Given the description of an element on the screen output the (x, y) to click on. 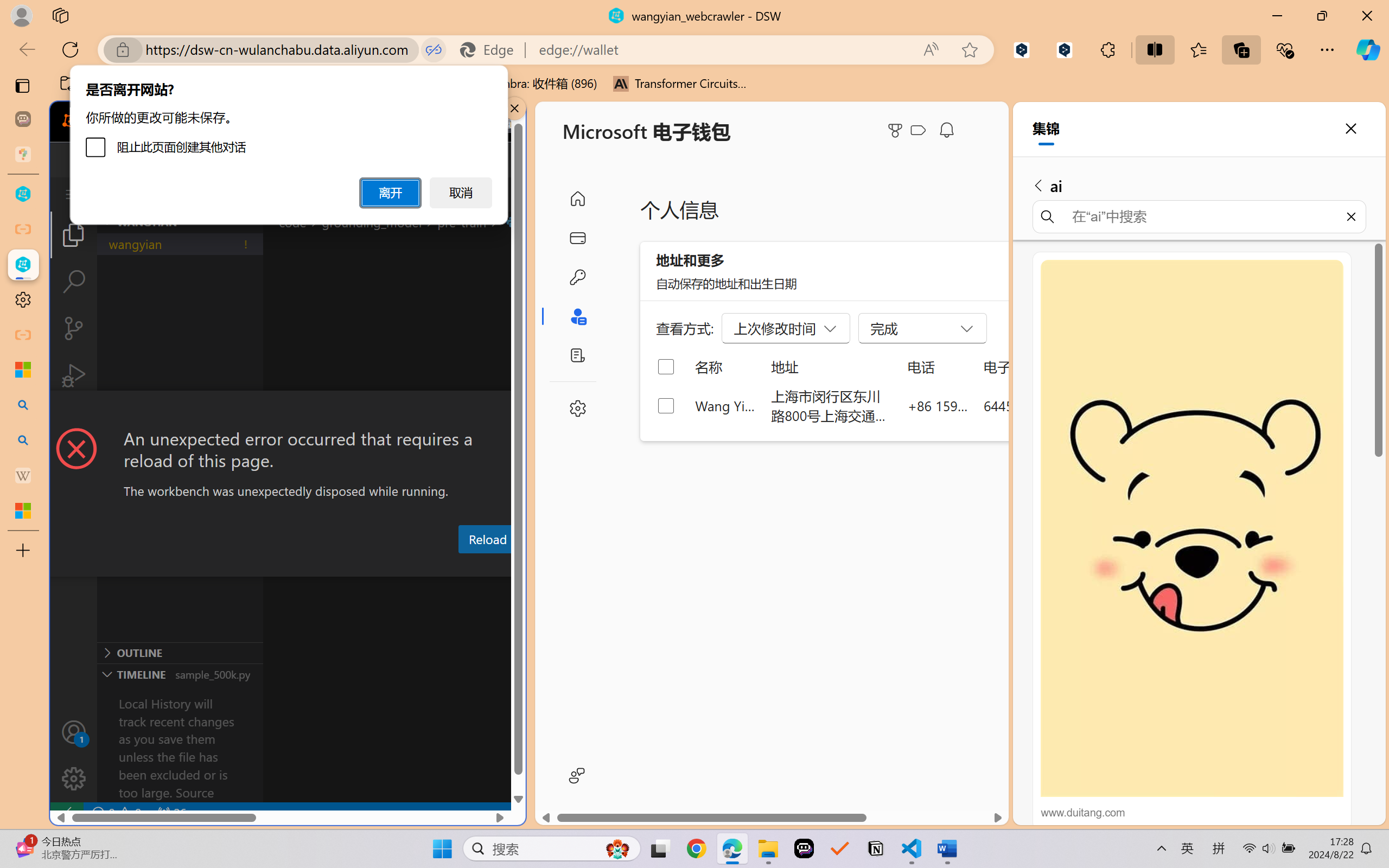
644553698@qq.com (1043, 405)
Run and Debug (Ctrl+Shift+D) (73, 375)
